Given the description of an element on the screen output the (x, y) to click on. 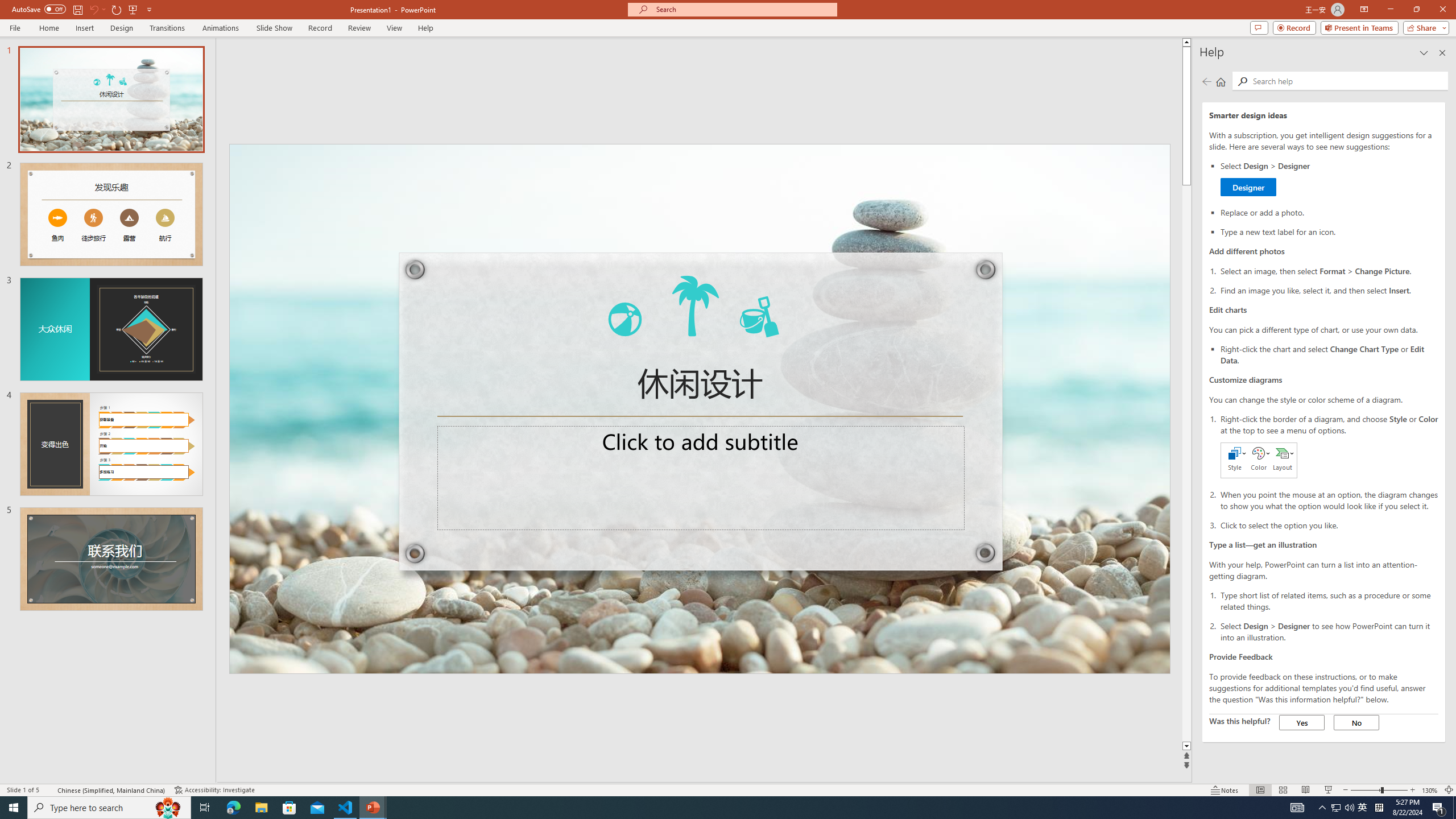
Click to select the option you like. (1329, 524)
Type a new text label for an icon. (1329, 231)
Select an image, then select Format > Change Picture. (1329, 270)
